Given the description of an element on the screen output the (x, y) to click on. 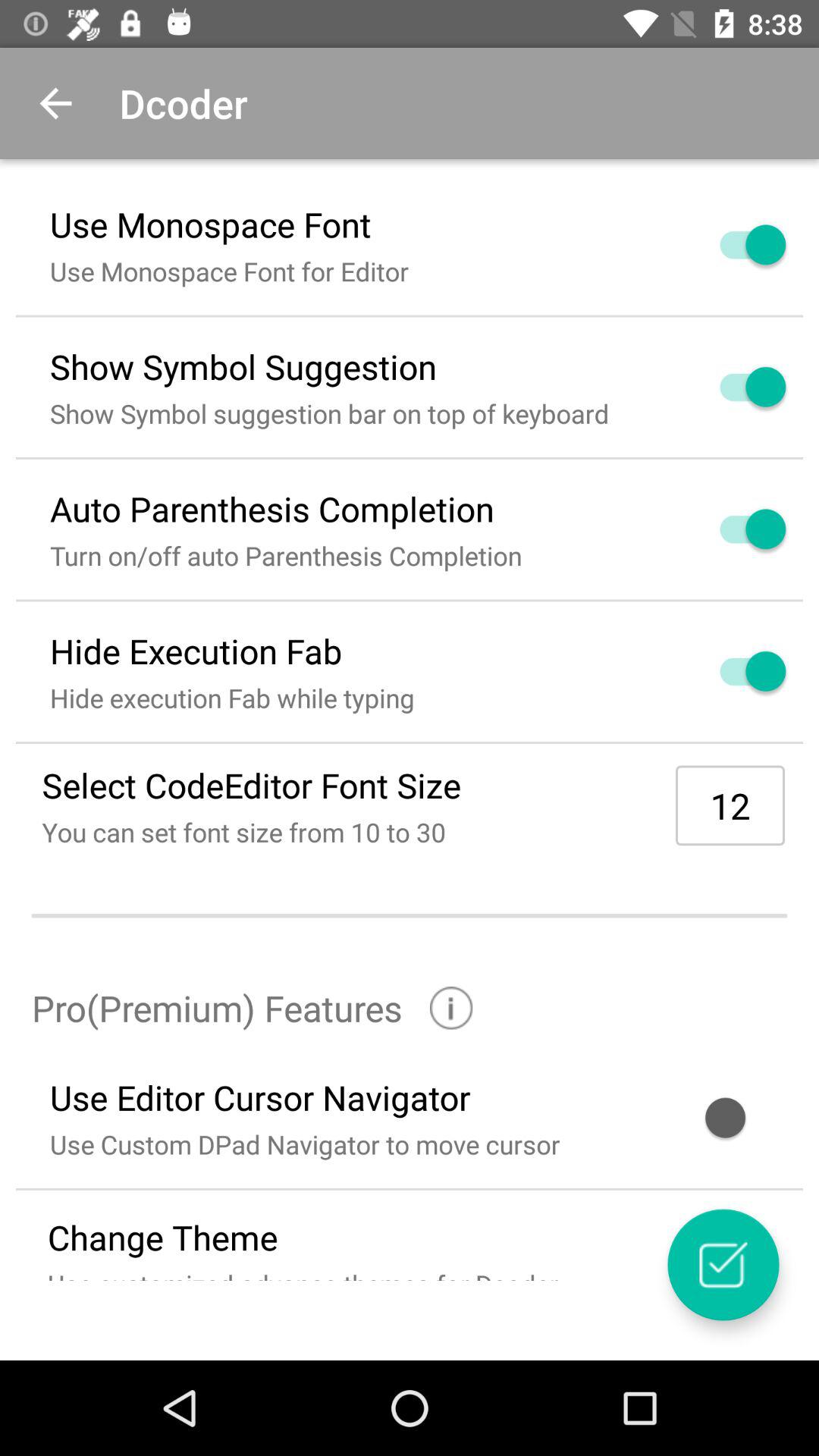
press icon next to show symbol suggestion icon (734, 387)
